Given the description of an element on the screen output the (x, y) to click on. 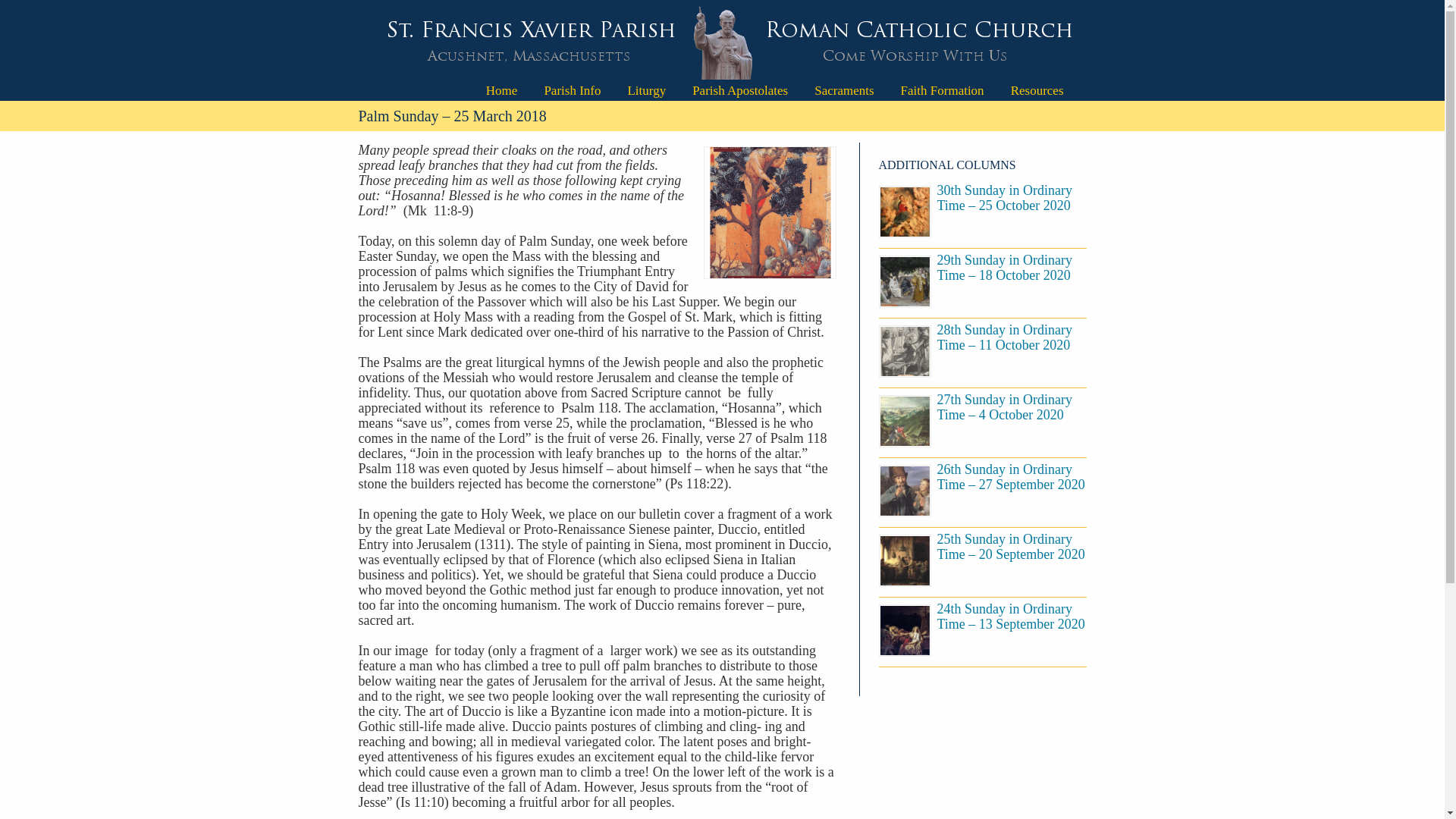
Parish Apostolates (740, 88)
Parish Info (571, 88)
Sacraments (844, 88)
Liturgy (646, 88)
Home (501, 88)
